Given the description of an element on the screen output the (x, y) to click on. 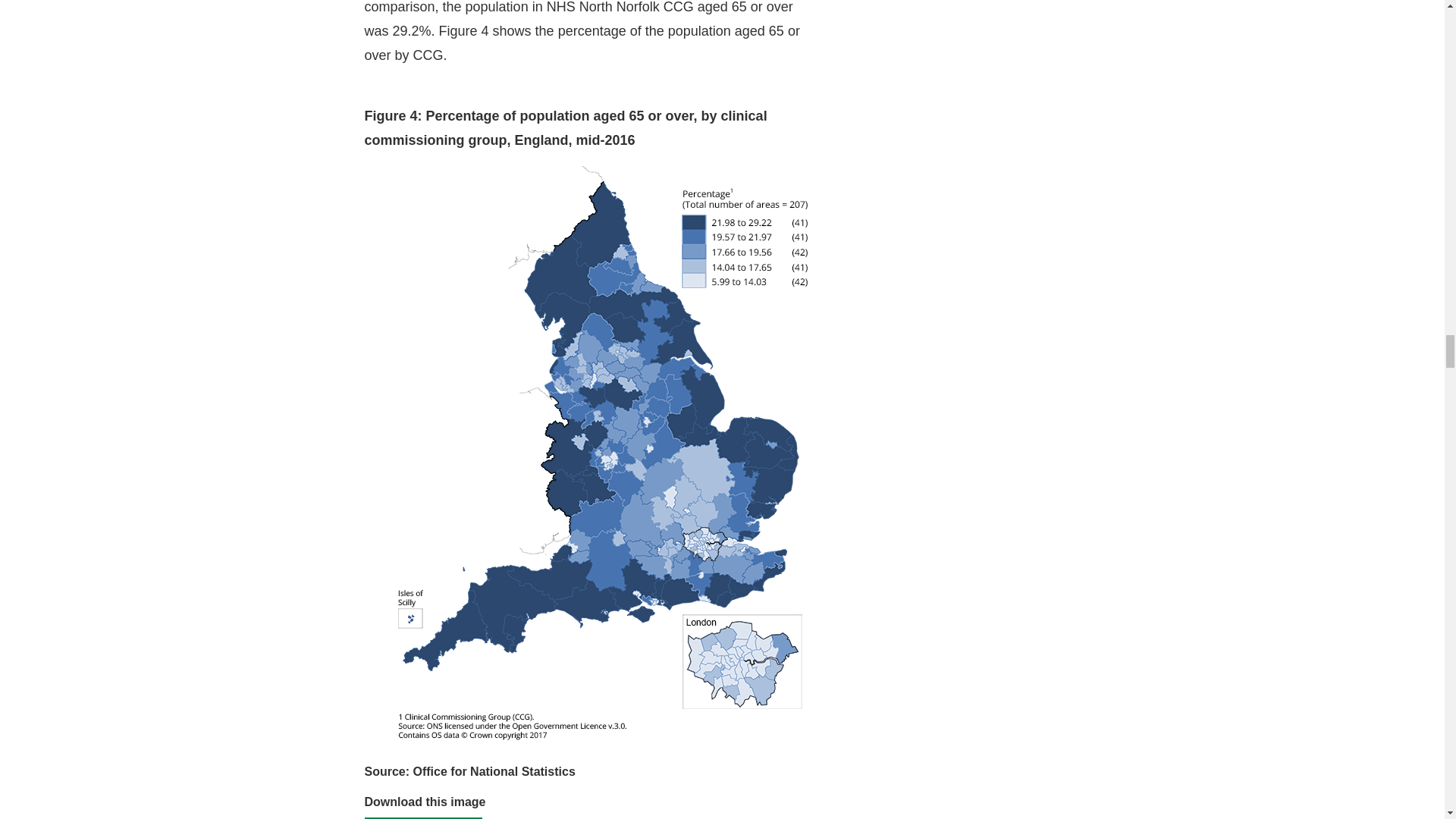
Download as png (422, 818)
